Given the description of an element on the screen output the (x, y) to click on. 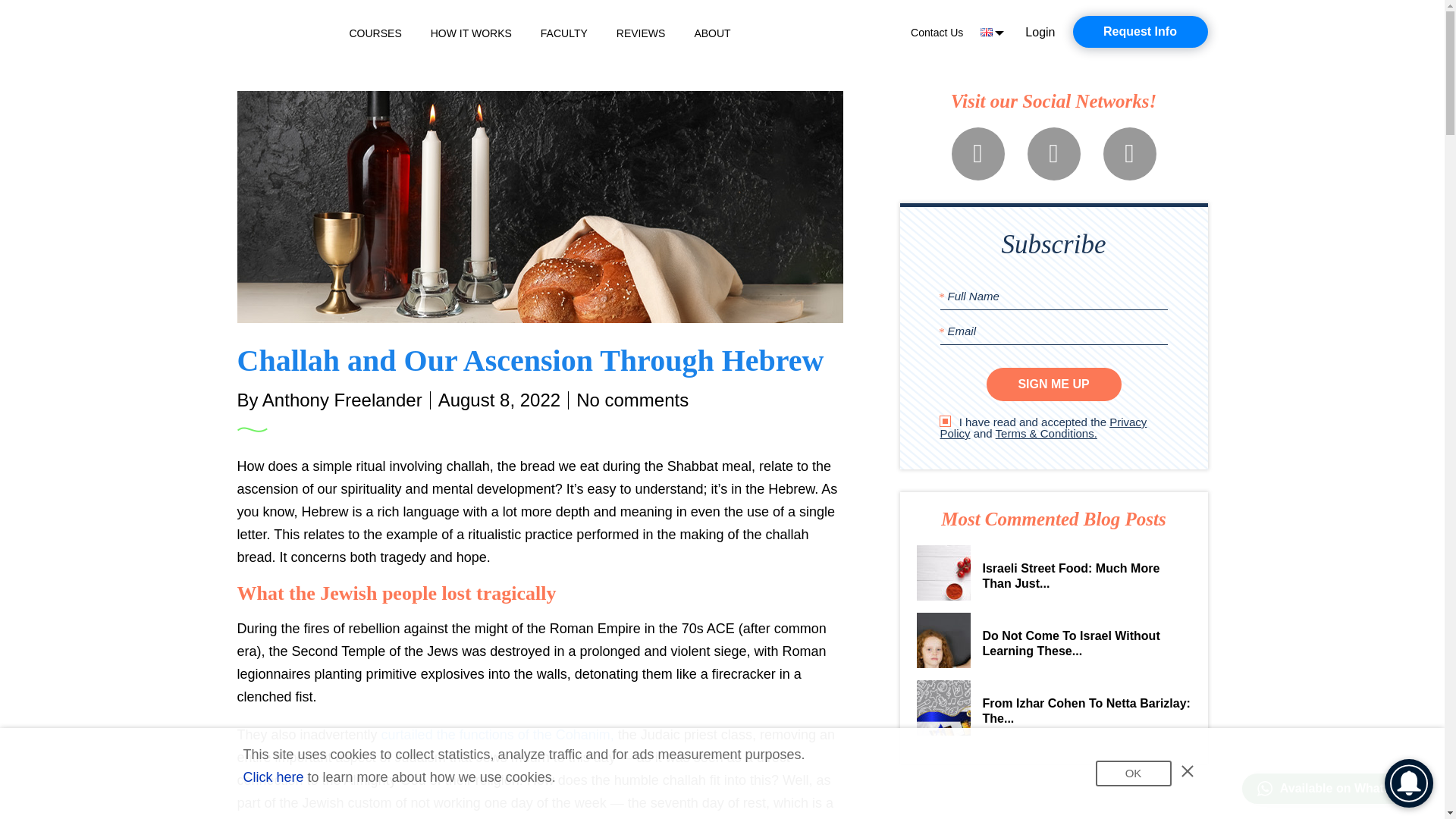
Request Info (1139, 31)
Login (1039, 31)
Rosen School of Hebrew (280, 32)
ABOUT (712, 33)
FACULTY (564, 33)
Contact Us (936, 32)
HOW IT WORKS (471, 33)
Please enter your email address (1053, 330)
COURSES (375, 33)
curtailed the functions of the Cohanim, (497, 734)
Learn Hebrew (280, 32)
Please enter your full name (1053, 295)
REVIEWS (640, 33)
